Given the description of an element on the screen output the (x, y) to click on. 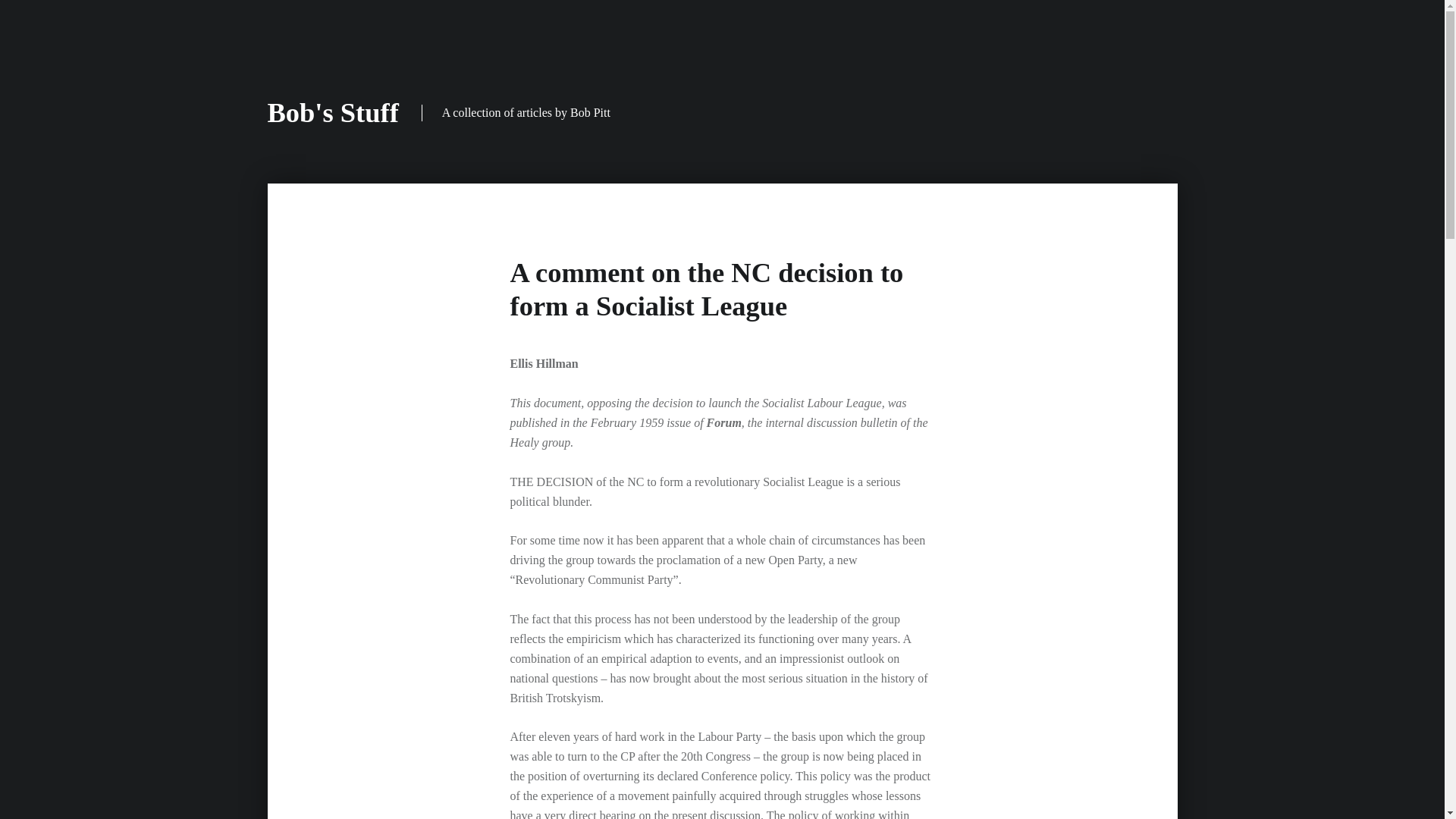
Bob's Stuff (331, 112)
